Given the description of an element on the screen output the (x, y) to click on. 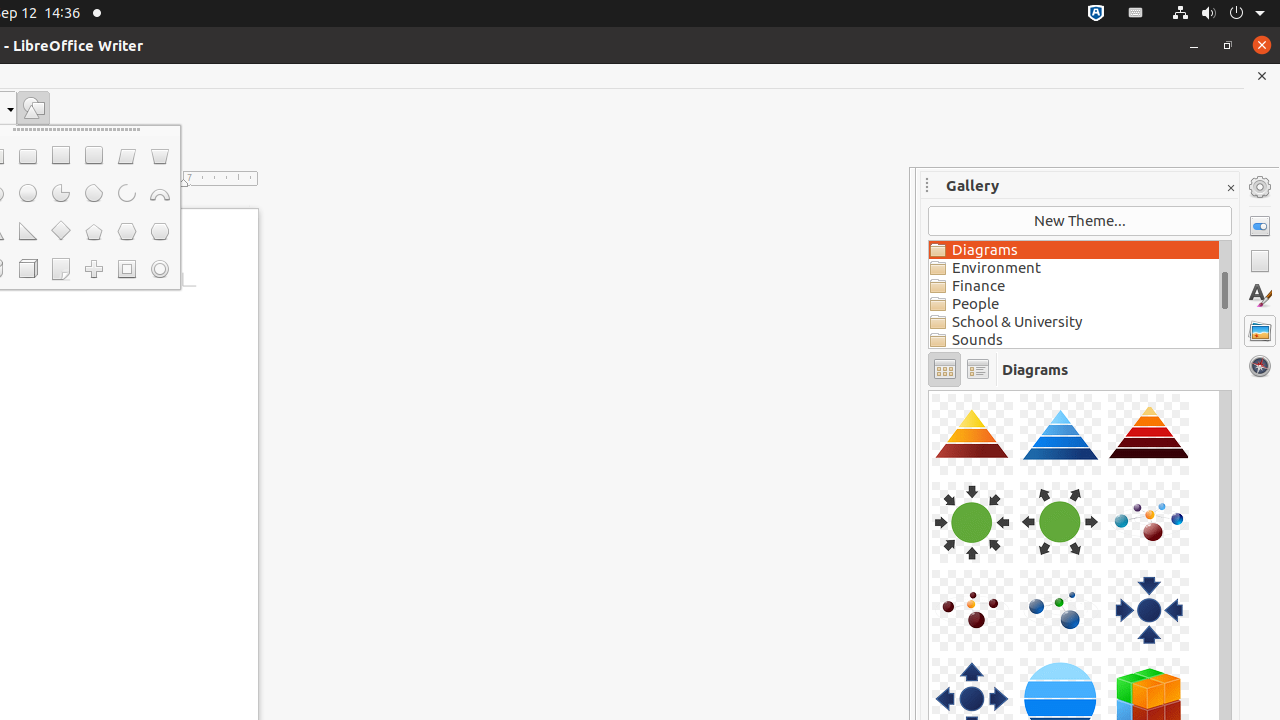
Folded Corner Element type: toggle-button (60, 269)
Component-Person03-Green Element type: list-item (929, 390)
Parallelogram Element type: toggle-button (126, 155)
Cycle01-Transparent Element type: list-item (929, 390)
Page Element type: radio-button (1260, 261)
